Given the description of an element on the screen output the (x, y) to click on. 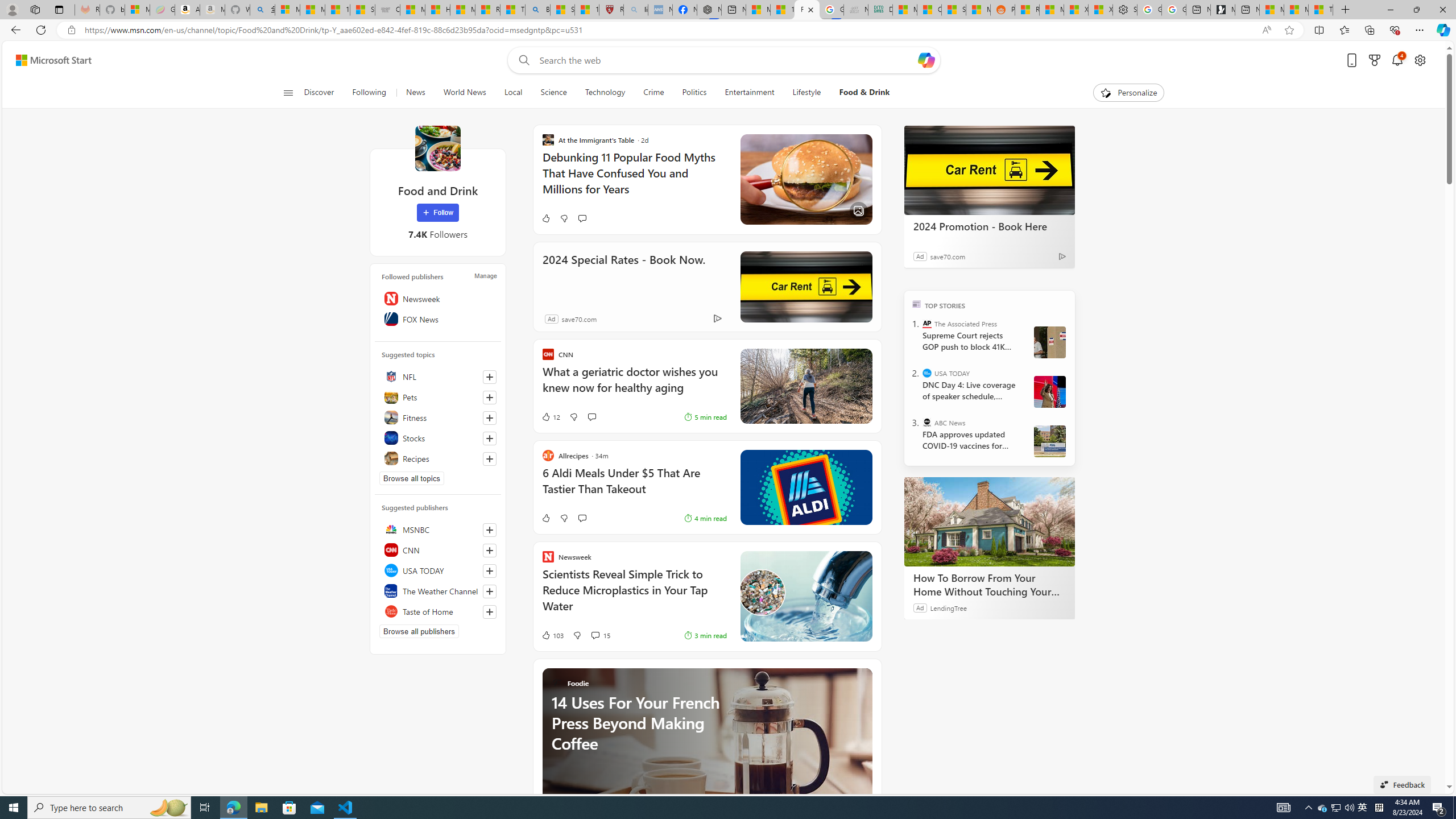
14 Common Myths Debunked By Scientific Facts (782, 9)
Fitness (437, 417)
CNN (437, 549)
Recipes (437, 458)
